Given the description of an element on the screen output the (x, y) to click on. 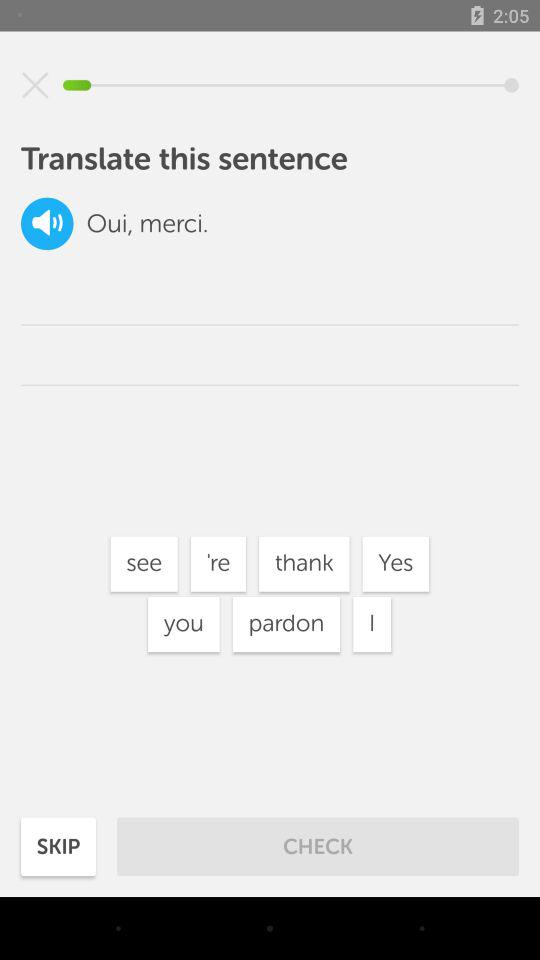
close page (35, 85)
